Given the description of an element on the screen output the (x, y) to click on. 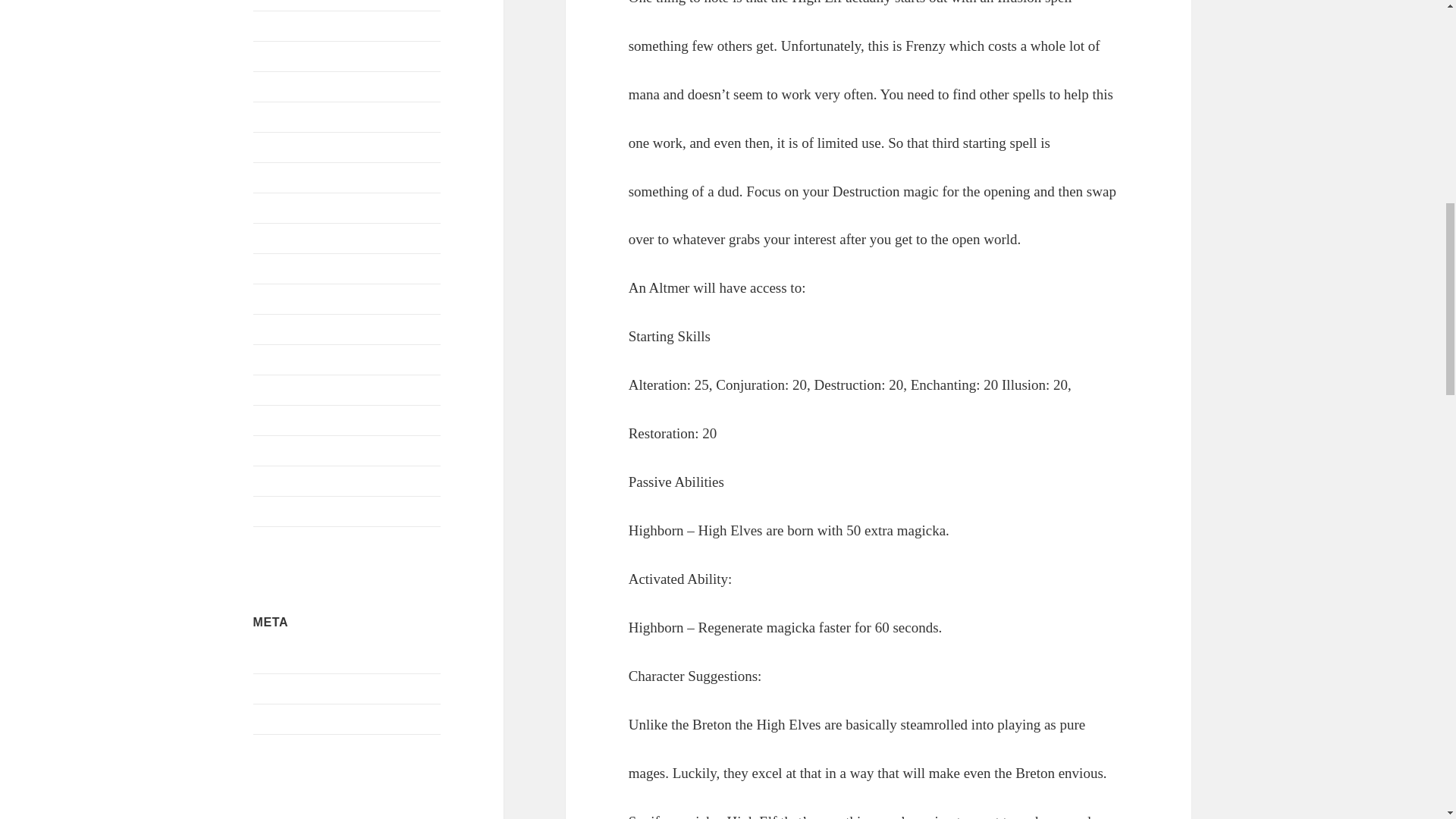
FIFA Video Games (299, 85)
Destiny 2 (276, 0)
Path of Exile (285, 358)
Fallout 76 (277, 55)
NHL Video Games (299, 328)
Wildstar (273, 510)
Entries feed (282, 688)
The First Descendant (304, 480)
Maplestory 2 (285, 206)
The Elder Scrolls Online (313, 449)
